Given the description of an element on the screen output the (x, y) to click on. 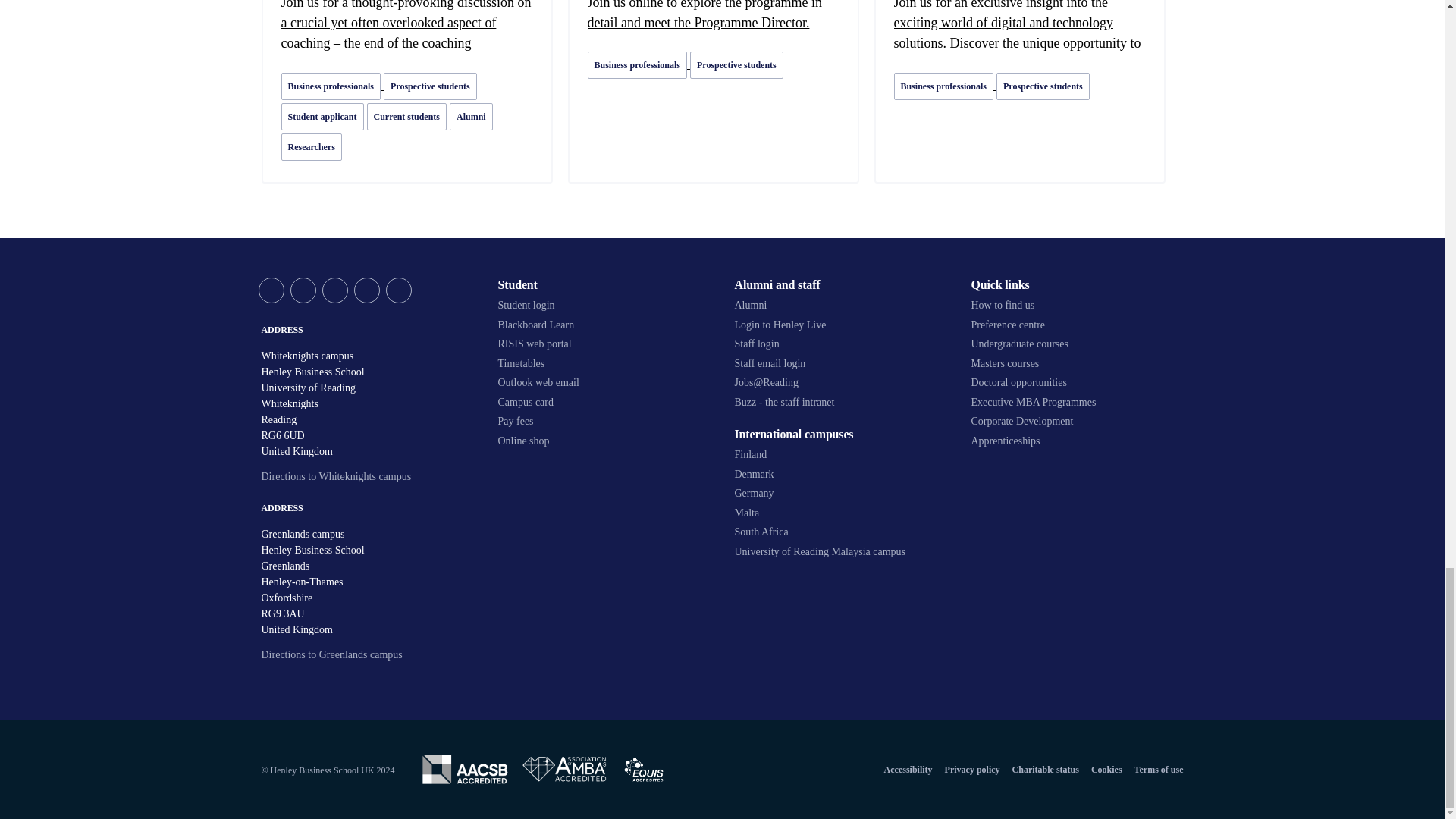
Denmark (839, 474)
Campus card (603, 402)
RISIS web portal (603, 344)
Linkedin (365, 290)
Timetables (603, 364)
Facebook (302, 290)
YouTube (334, 290)
Twitter (270, 290)
Pay fees (603, 421)
Staff email login (839, 364)
